Given the description of an element on the screen output the (x, y) to click on. 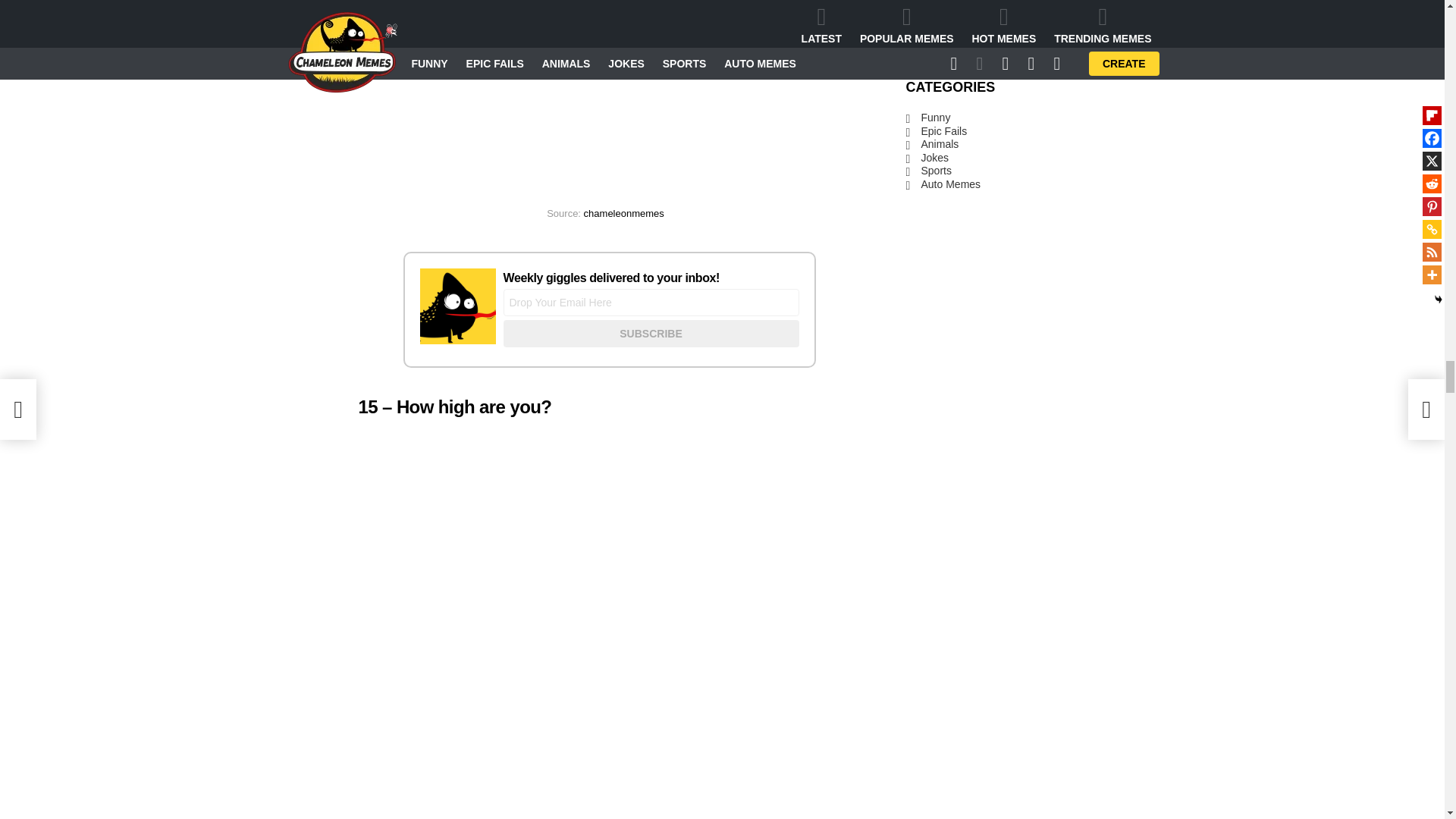
Subscribe (651, 333)
